Given the description of an element on the screen output the (x, y) to click on. 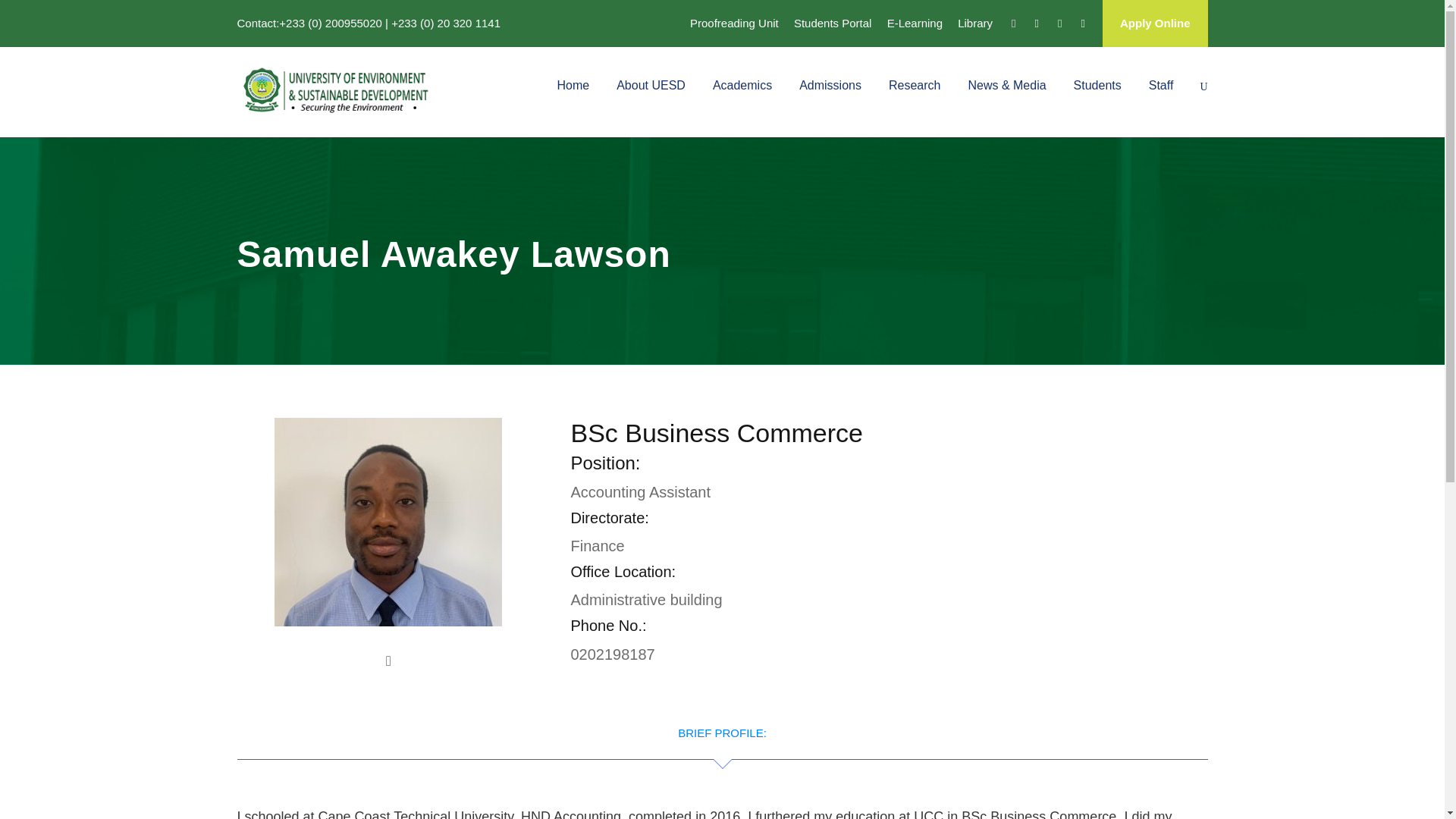
facebook (1012, 22)
uesd web nam (338, 91)
instagram (1082, 22)
email (388, 660)
twitter (1037, 22)
youtube (1059, 22)
